Given the description of an element on the screen output the (x, y) to click on. 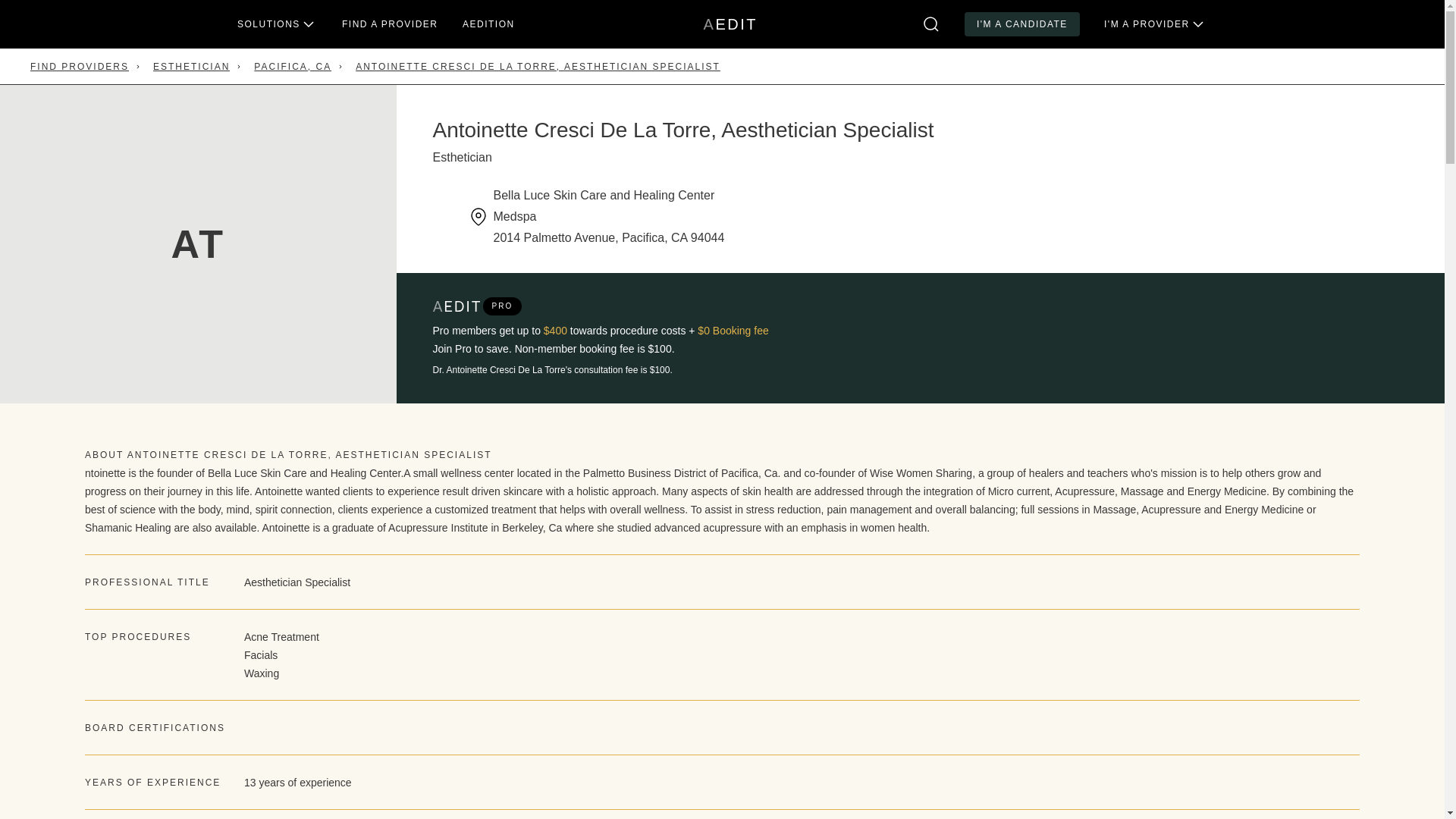
ESTHETICIAN (191, 66)
PACIFICA, CA (730, 24)
I'M A CANDIDATE (292, 66)
AEDITION (1021, 24)
FIND A PROVIDER (489, 24)
FIND PROVIDERS (390, 24)
